Given the description of an element on the screen output the (x, y) to click on. 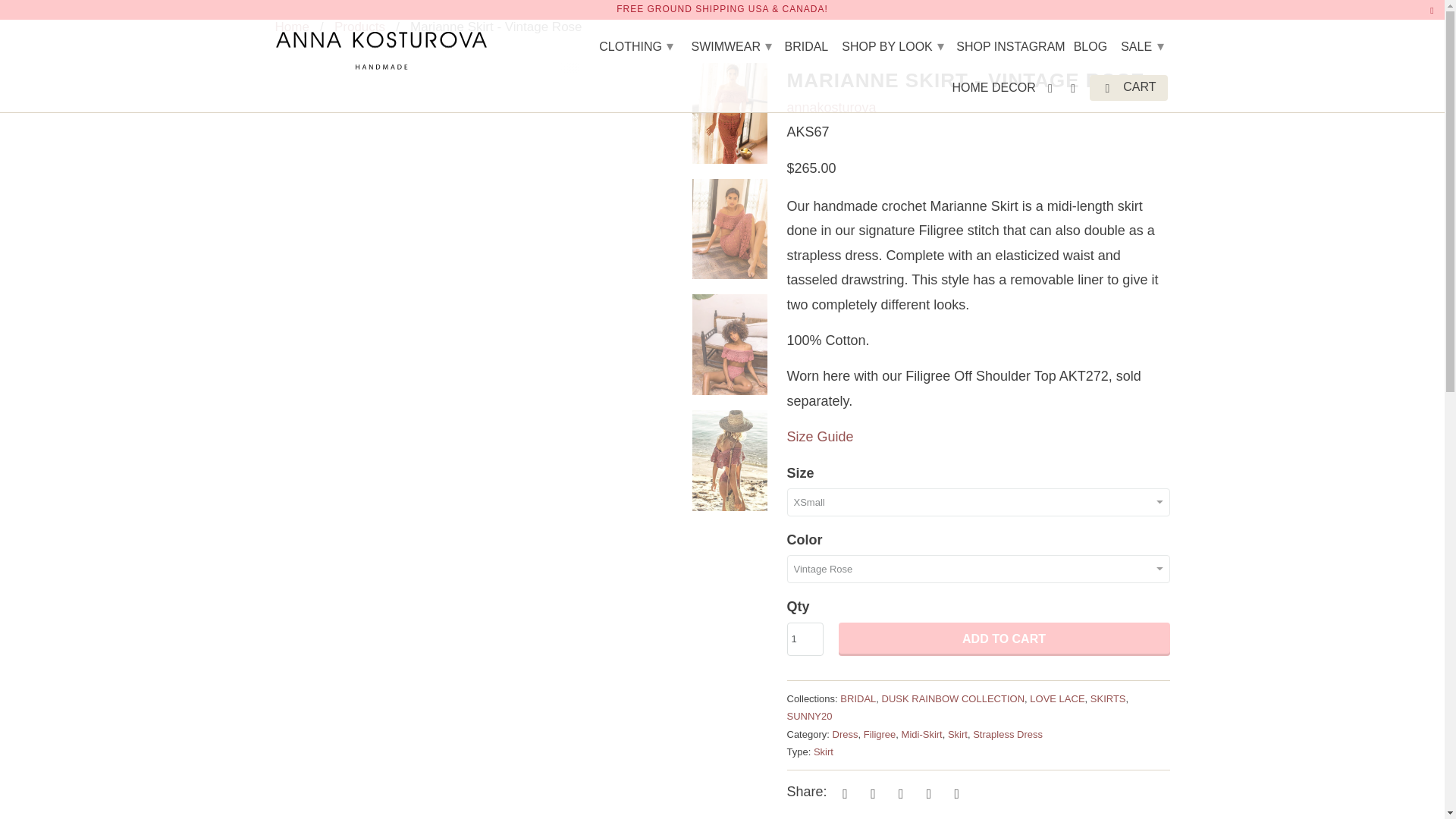
Skirt (822, 751)
annakosturova (291, 26)
1 (805, 639)
Products tagged Filigree (879, 734)
annakosturova (831, 107)
Marianne Skirt - Vintage Rose (473, 69)
LOVE LACE (1056, 698)
Products tagged Dress (845, 734)
SKIRTS (1107, 698)
Products (359, 26)
